Given the description of an element on the screen output the (x, y) to click on. 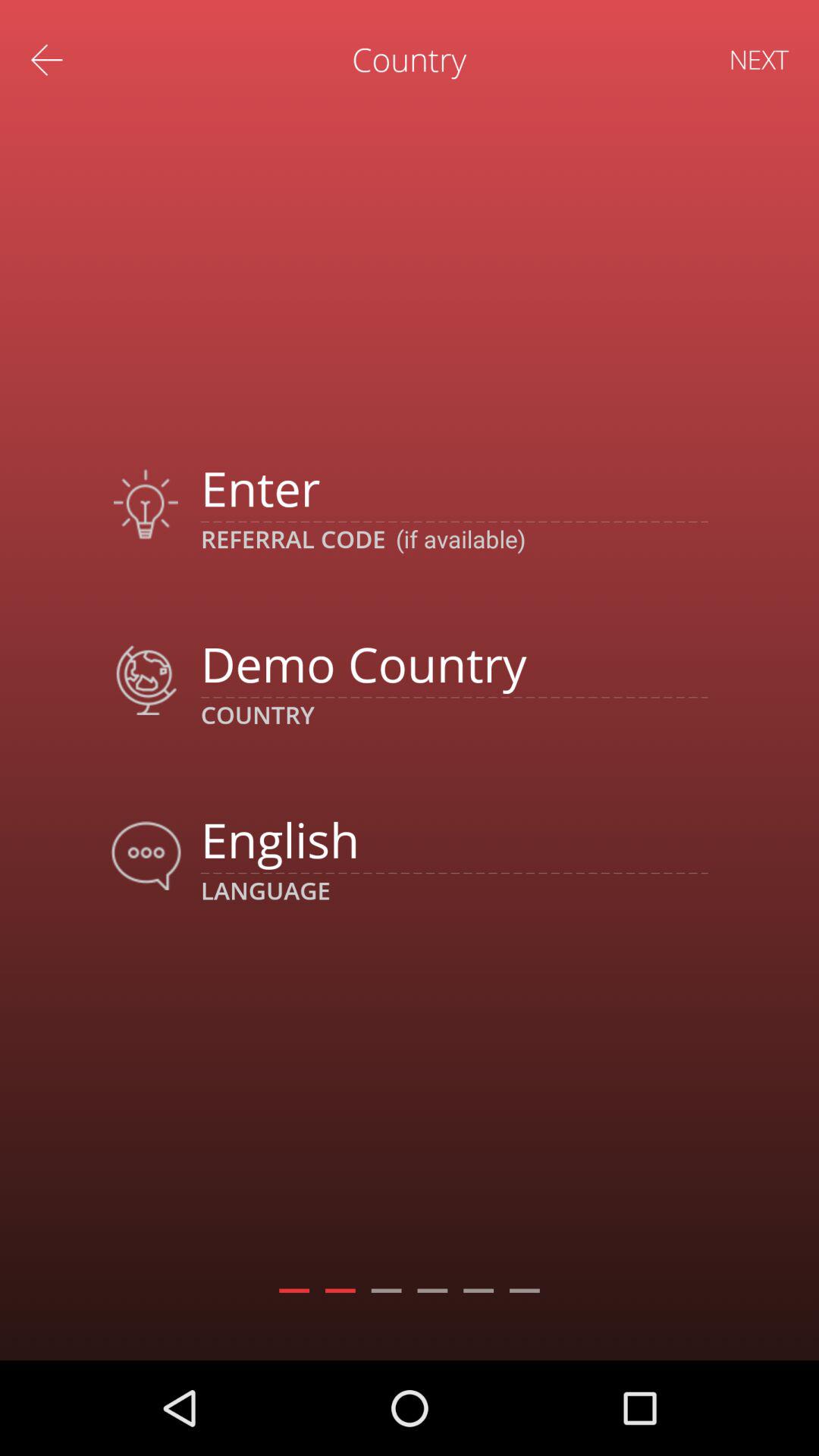
enter referral code (454, 487)
